Given the description of an element on the screen output the (x, y) to click on. 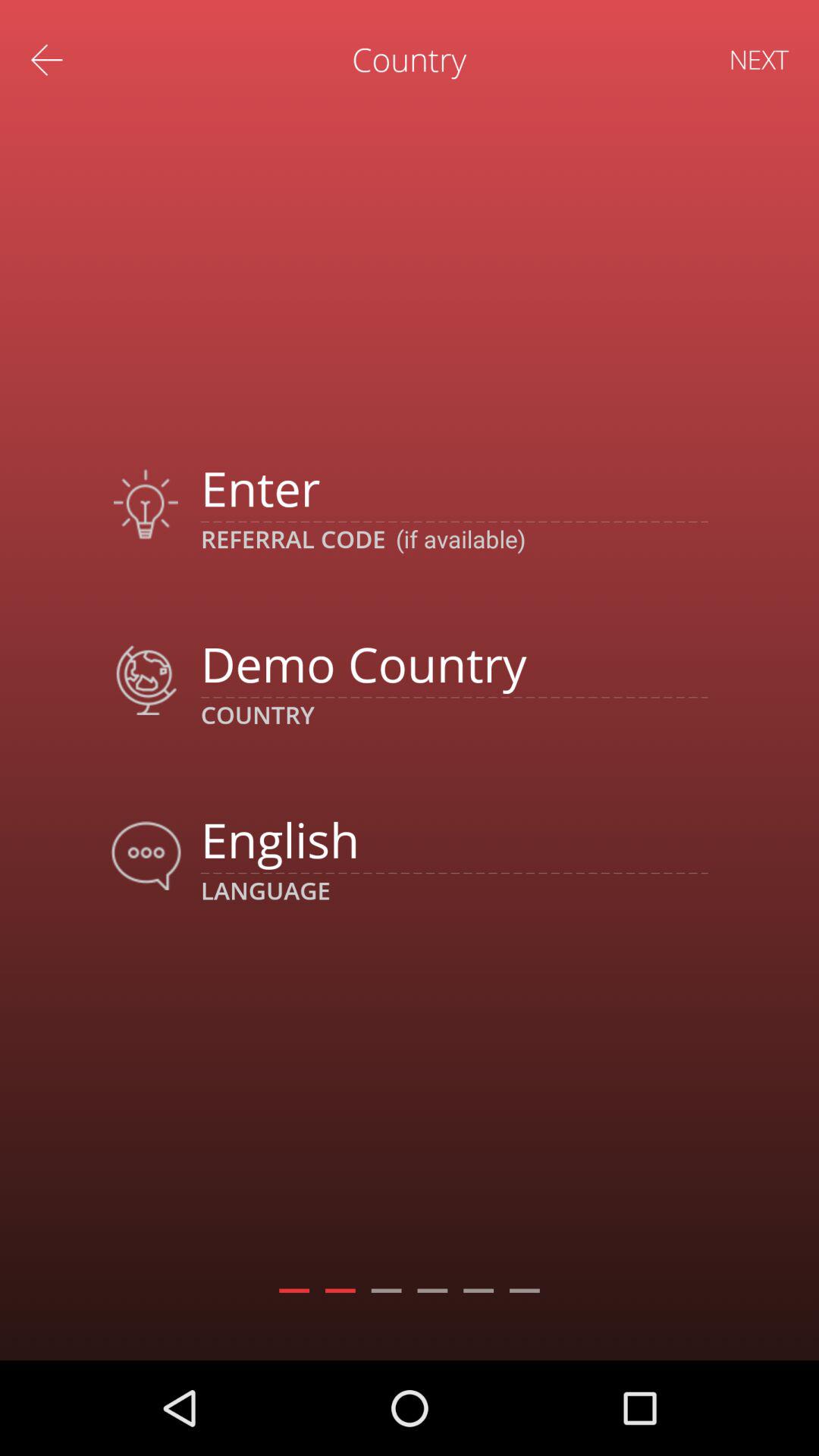
enter referral code (454, 487)
